Given the description of an element on the screen output the (x, y) to click on. 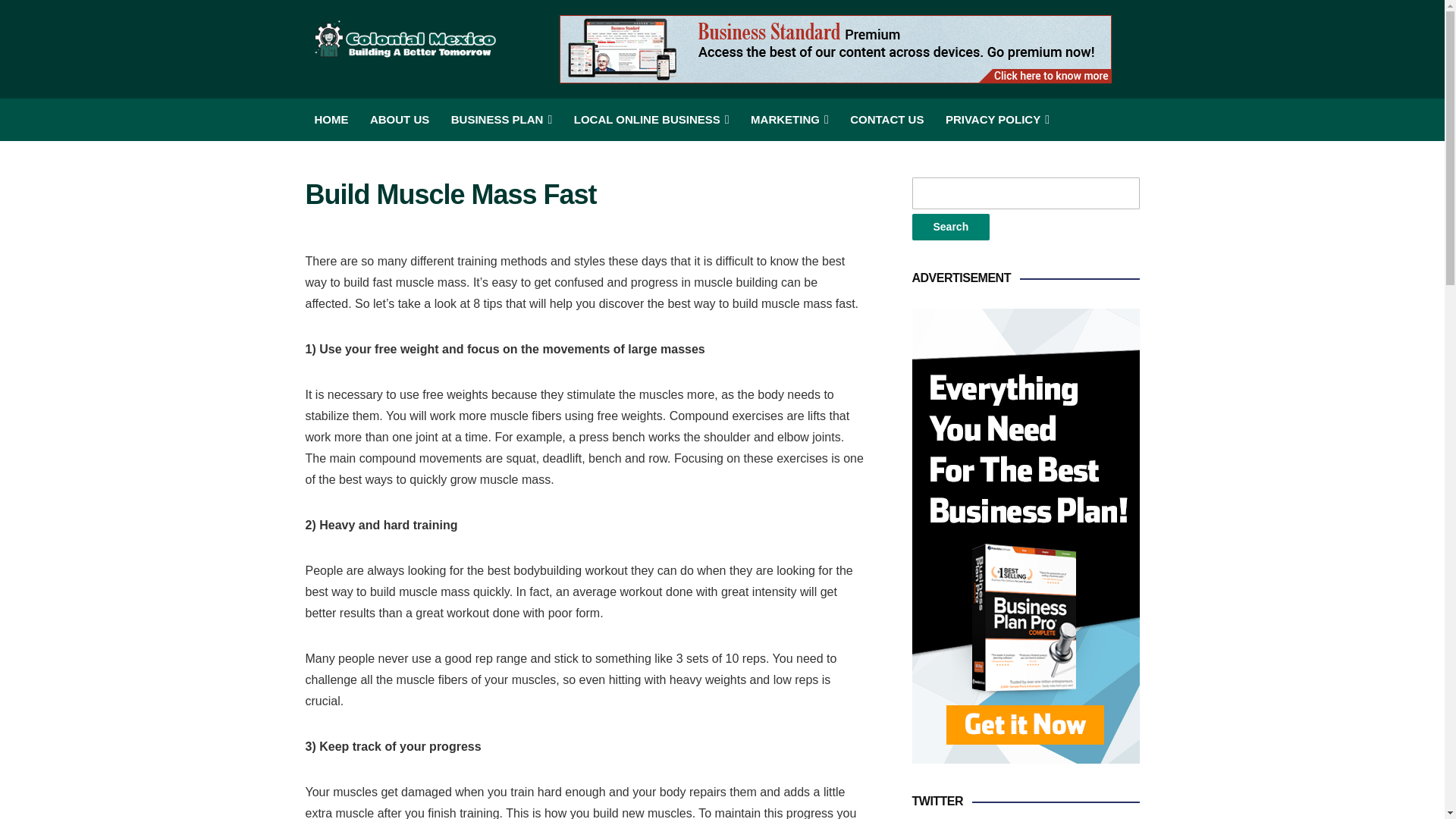
PRIVACY POLICY (997, 119)
CONTACT US (886, 119)
BUSINESS PLAN (501, 119)
MARKETING (789, 119)
LOCAL ONLINE BUSINESS (651, 119)
Search (950, 226)
ABOUT US (399, 119)
HOME (331, 119)
